Given the description of an element on the screen output the (x, y) to click on. 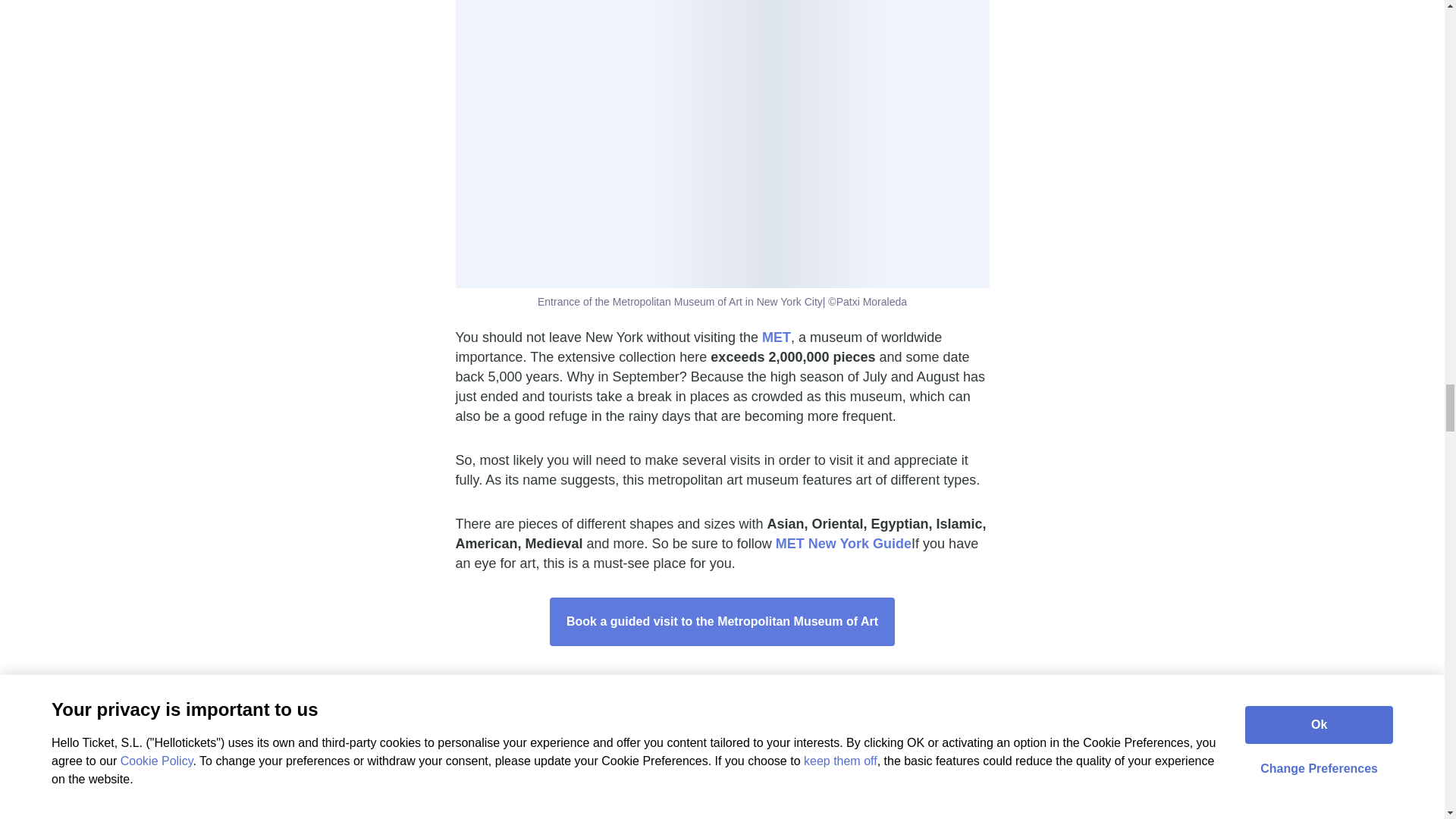
MET New York Guide (843, 543)
Book a guided visit to the Metropolitan Museum of Art (722, 621)
MET (775, 337)
